Given the description of an element on the screen output the (x, y) to click on. 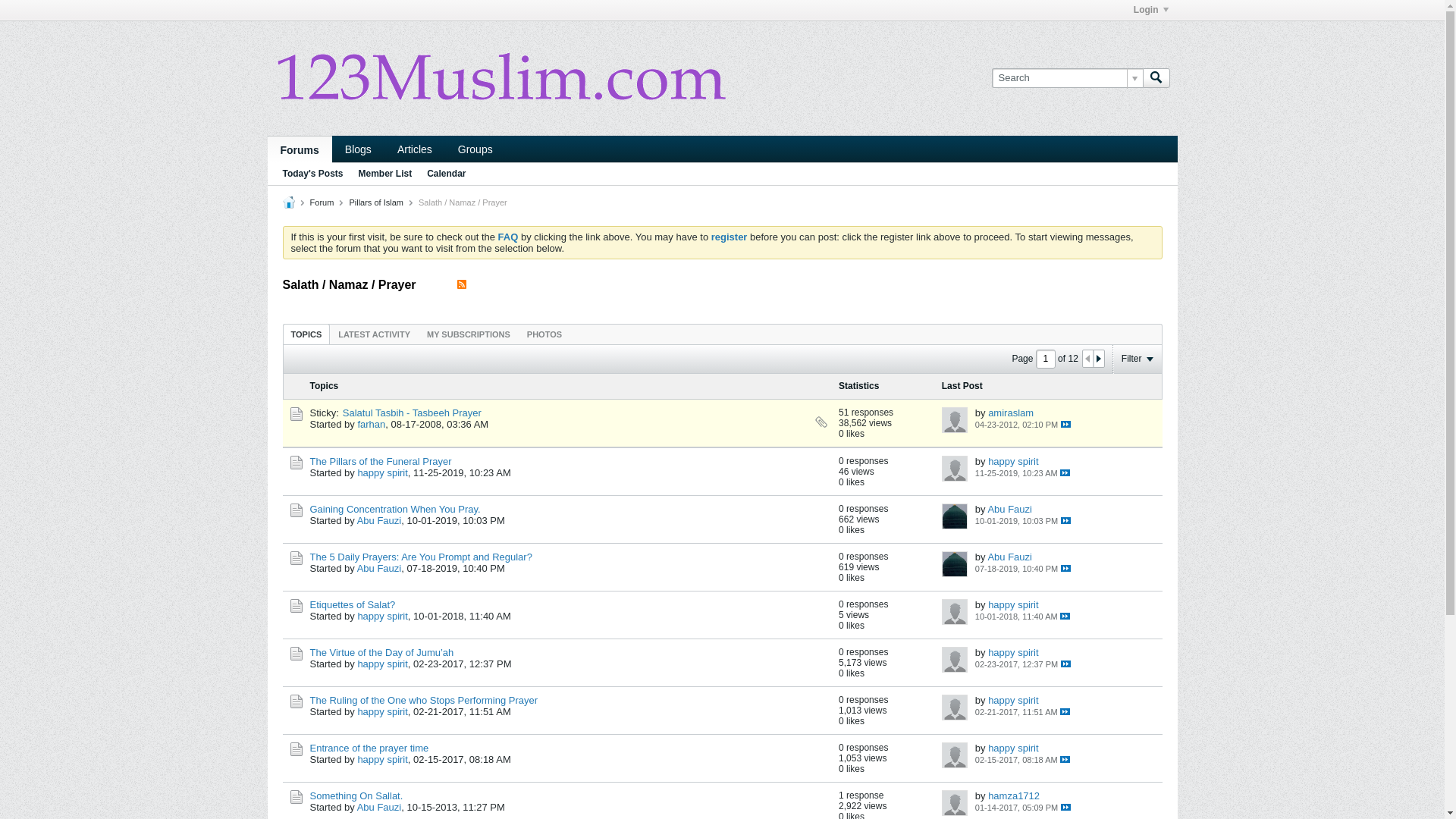
TOPICS Element type: text (306, 334)
PHOTOS Element type: text (544, 334)
happy spirit Element type: hover (954, 755)
happy spirit Element type: text (1013, 700)
Abu Fauzi Element type: hover (954, 516)
Salatul Tasbih - Tasbeeh Prayer Element type: text (411, 412)
Next Page Element type: hover (1098, 358)
Powered by vBulletin Element type: hover (501, 75)
farhan Element type: text (371, 423)
Go to last post Element type: hover (1065, 759)
  Element type: text (1065, 663)
Abu Fauzi Element type: hover (954, 564)
Abu Fauzi Element type: text (379, 520)
amiraslam Element type: hover (954, 419)
Go to last post Element type: hover (1065, 711)
Something On Sallat. Element type: text (355, 795)
Go to last post Element type: hover (1065, 615)
hamza1712 Element type: hover (954, 802)
happy spirit Element type: text (382, 615)
happy spirit Element type: hover (954, 468)
MY SUBSCRIPTIONS Element type: text (468, 334)
Articles Element type: text (414, 148)
happy spirit Element type: text (382, 759)
  Element type: text (1065, 520)
Abu Fauzi Element type: text (379, 806)
Go to last post Element type: hover (1065, 520)
Etiquettes of Salat? Element type: text (352, 604)
happy spirit Element type: hover (954, 611)
Go to last post Element type: hover (1065, 567)
  Element type: text (1065, 711)
  Element type: text (1065, 759)
LATEST ACTIVITY Element type: text (373, 334)
Forum Element type: text (322, 202)
amiraslam Element type: text (1010, 412)
Gaining Concentration When You Pray. Element type: text (394, 508)
1 Attachment(s) Element type: hover (821, 421)
happy spirit Element type: text (1013, 604)
  Element type: text (1065, 806)
The 5 Daily Prayers: Are You Prompt and Regular? Element type: text (420, 556)
Member List Element type: text (384, 174)
FAQ Element type: text (508, 236)
The Ruling of the One who Stops Performing Prayer Element type: text (423, 700)
happy spirit Element type: text (382, 663)
Go to last post Element type: hover (1065, 806)
happy spirit Element type: text (382, 711)
Go to last post Element type: hover (1065, 663)
  Element type: text (1065, 567)
register Element type: text (729, 236)
Abu Fauzi Element type: text (1009, 508)
Previous Page Element type: hover (1087, 358)
  Element type: text (1065, 423)
happy spirit Element type: hover (954, 659)
View this channel's RSS feed. Element type: hover (461, 284)
Today's Posts Element type: text (312, 174)
happy spirit Element type: text (1013, 652)
Search Element type: hover (1155, 77)
  Element type: text (1065, 615)
Go to last post Element type: hover (1065, 472)
Calendar Element type: text (445, 174)
Groups Element type: text (475, 148)
happy spirit Element type: hover (954, 707)
happy spirit Element type: text (1013, 461)
happy spirit Element type: text (1013, 747)
hamza1712 Element type: text (1013, 795)
Abu Fauzi Element type: text (1009, 556)
Entrance of the prayer time Element type: text (368, 747)
The Pillars of the Funeral Prayer Element type: text (380, 461)
Home Element type: hover (288, 202)
Pillars of Islam Element type: text (375, 202)
Blogs Element type: text (358, 148)
Go to last post Element type: hover (1065, 423)
happy spirit Element type: text (382, 472)
Forums Element type: text (298, 149)
Abu Fauzi Element type: text (379, 568)
  Element type: text (1065, 472)
